Given the description of an element on the screen output the (x, y) to click on. 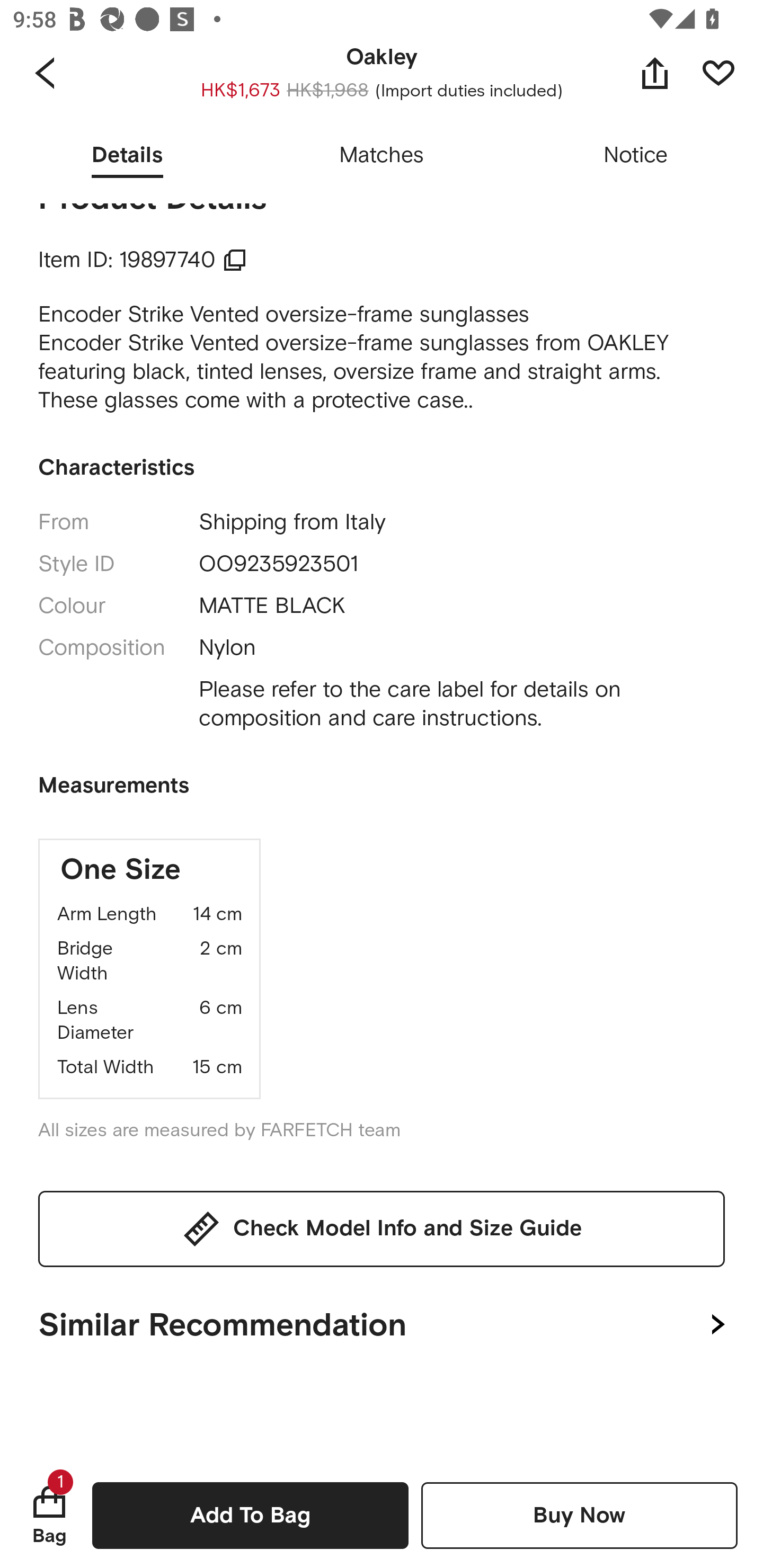
Browse FARFETCH Rankings (349, 86)
Matches (381, 155)
Notice (635, 155)
Item ID: 19897740 (142, 260)
 Check Model Info and Size Guide (381, 1228)
Similar Recommendation (381, 1320)
Bag 1 (49, 1515)
Add To Bag (250, 1515)
Buy Now (579, 1515)
